Given the description of an element on the screen output the (x, y) to click on. 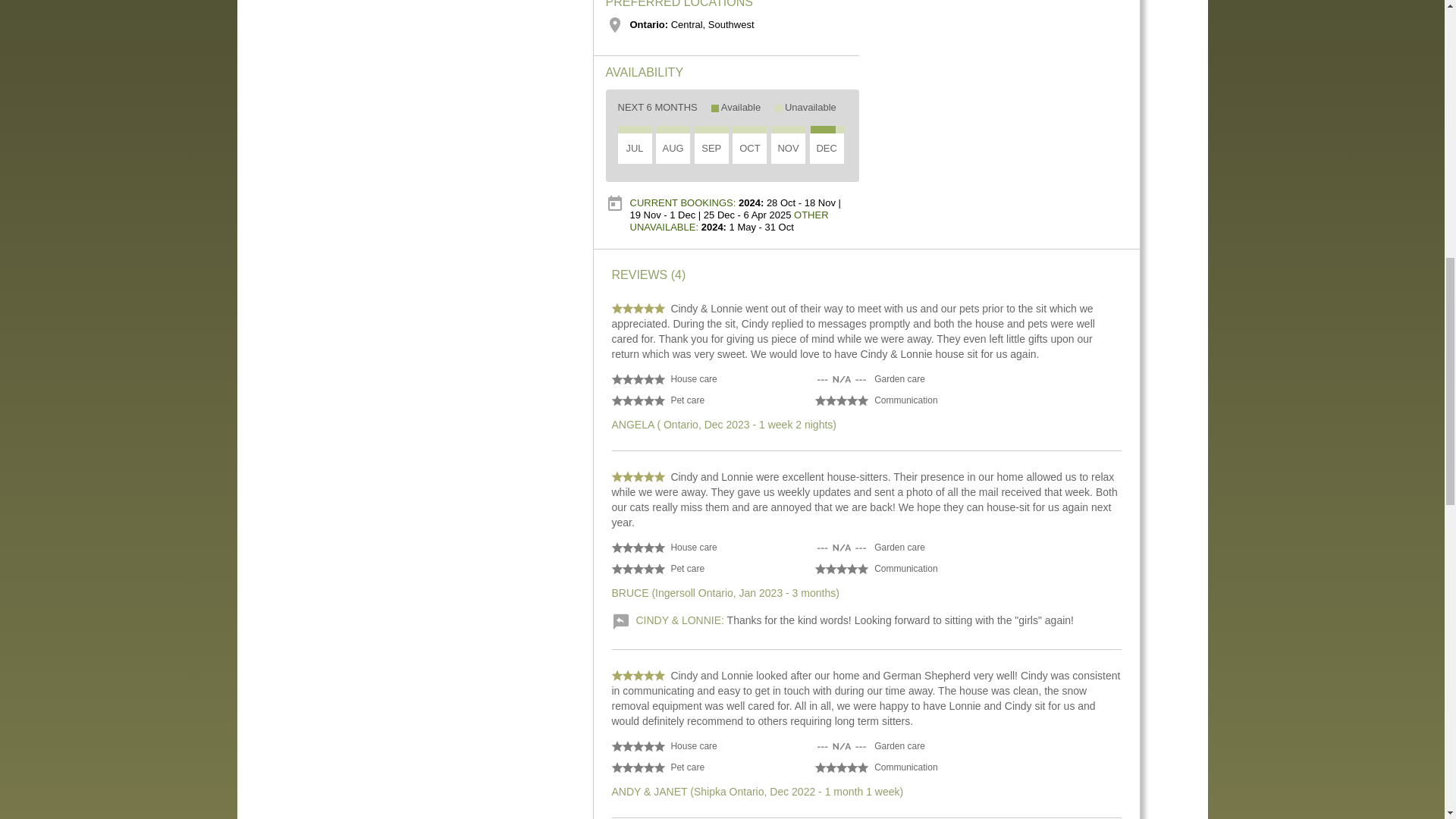
1 May to 31 Oct (673, 129)
28 Oct to 18 Nov (781, 129)
1 May to 31 Oct (749, 129)
Rating: 5.0 (637, 476)
25 Dec to 6 Apr (839, 129)
Rating: 5.0 (637, 307)
19 Nov to 1 Dec (798, 129)
1 May to 31 Oct (633, 129)
1 May to 31 Oct (711, 129)
